Given the description of an element on the screen output the (x, y) to click on. 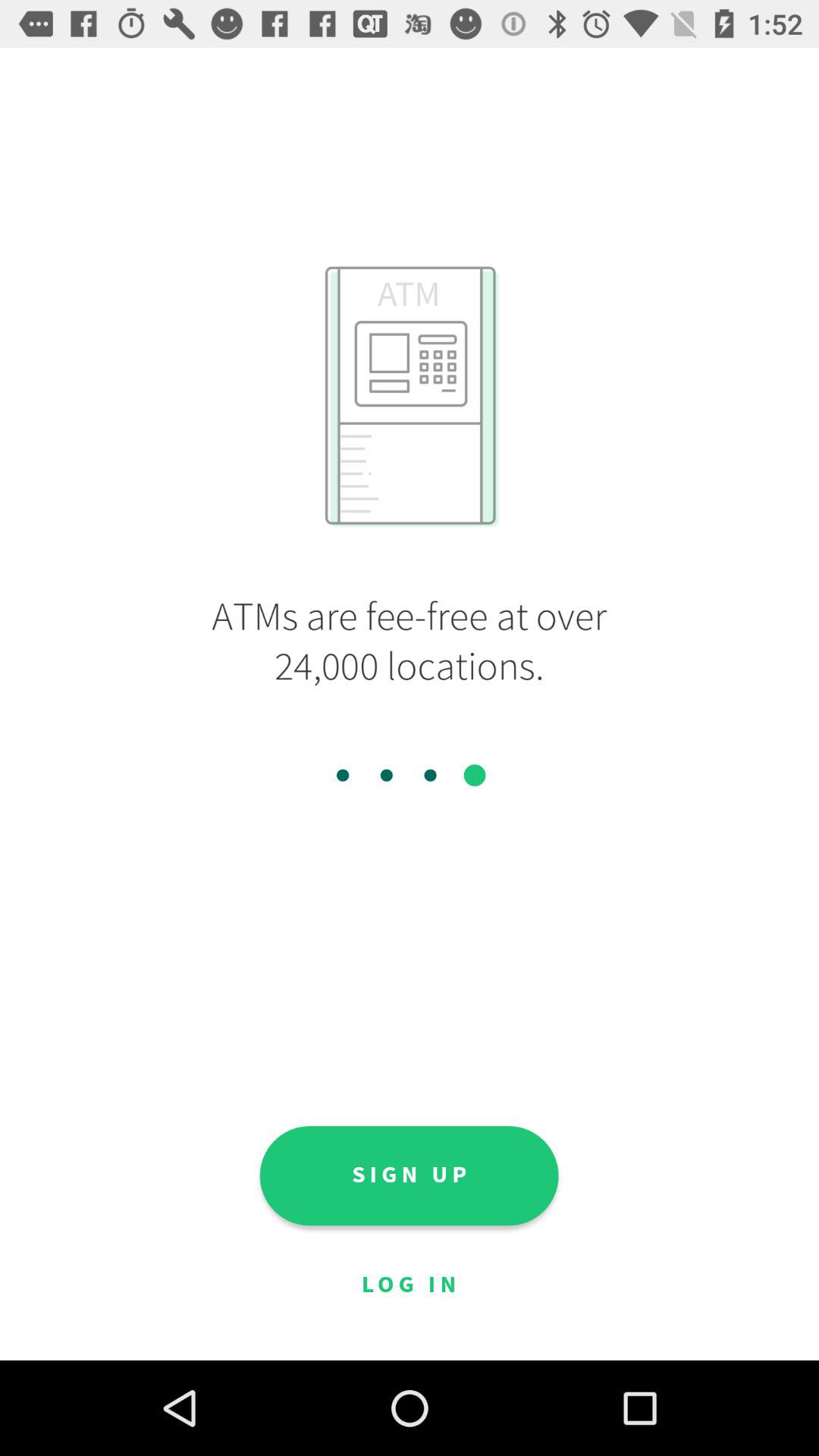
tap the item above the log in icon (408, 1175)
